Given the description of an element on the screen output the (x, y) to click on. 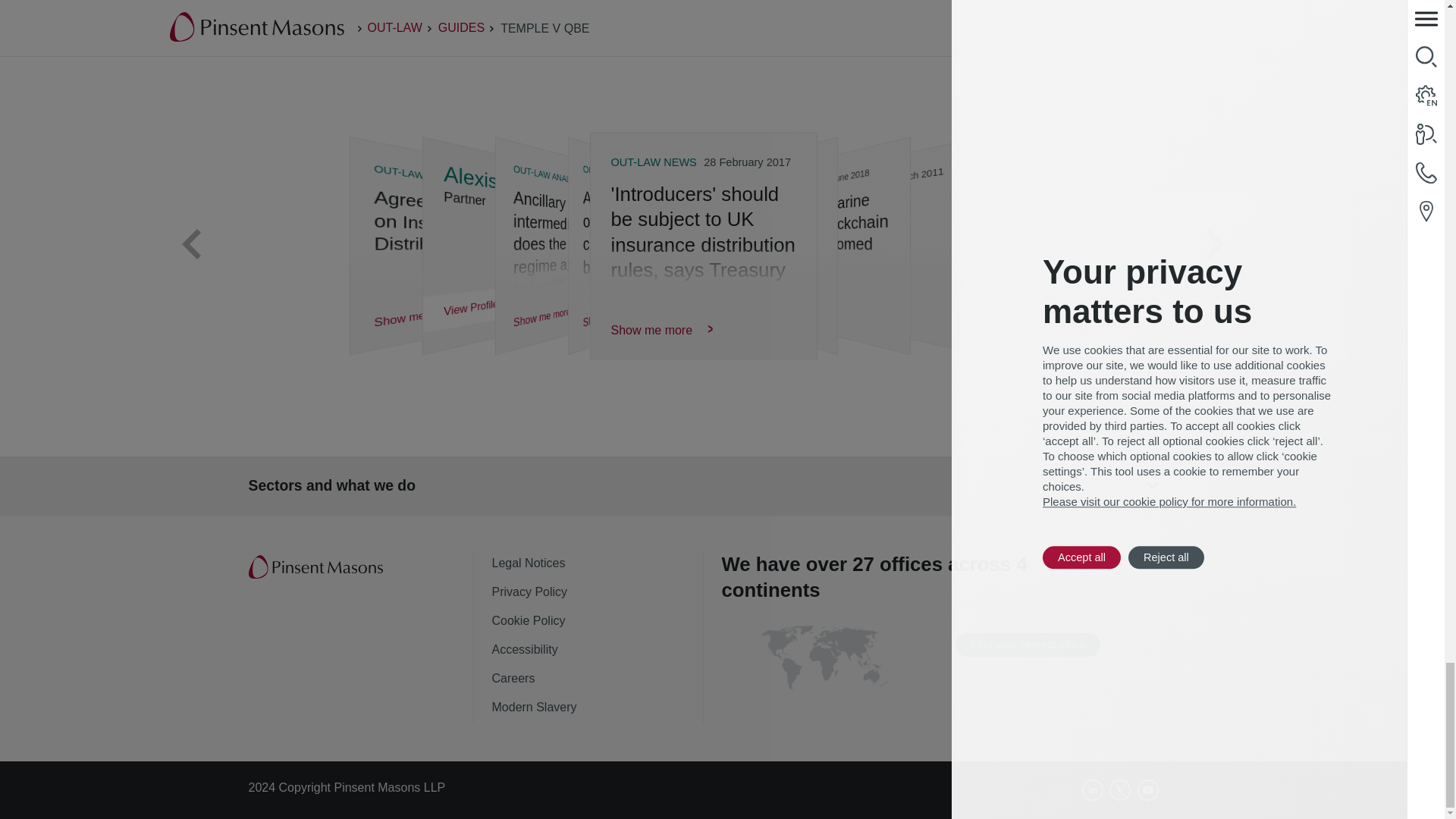
Pinsent Masons LinkedIn (1092, 789)
Pinsent Masons (316, 567)
Pinsent Masons Twitter (1120, 789)
